Given the description of an element on the screen output the (x, y) to click on. 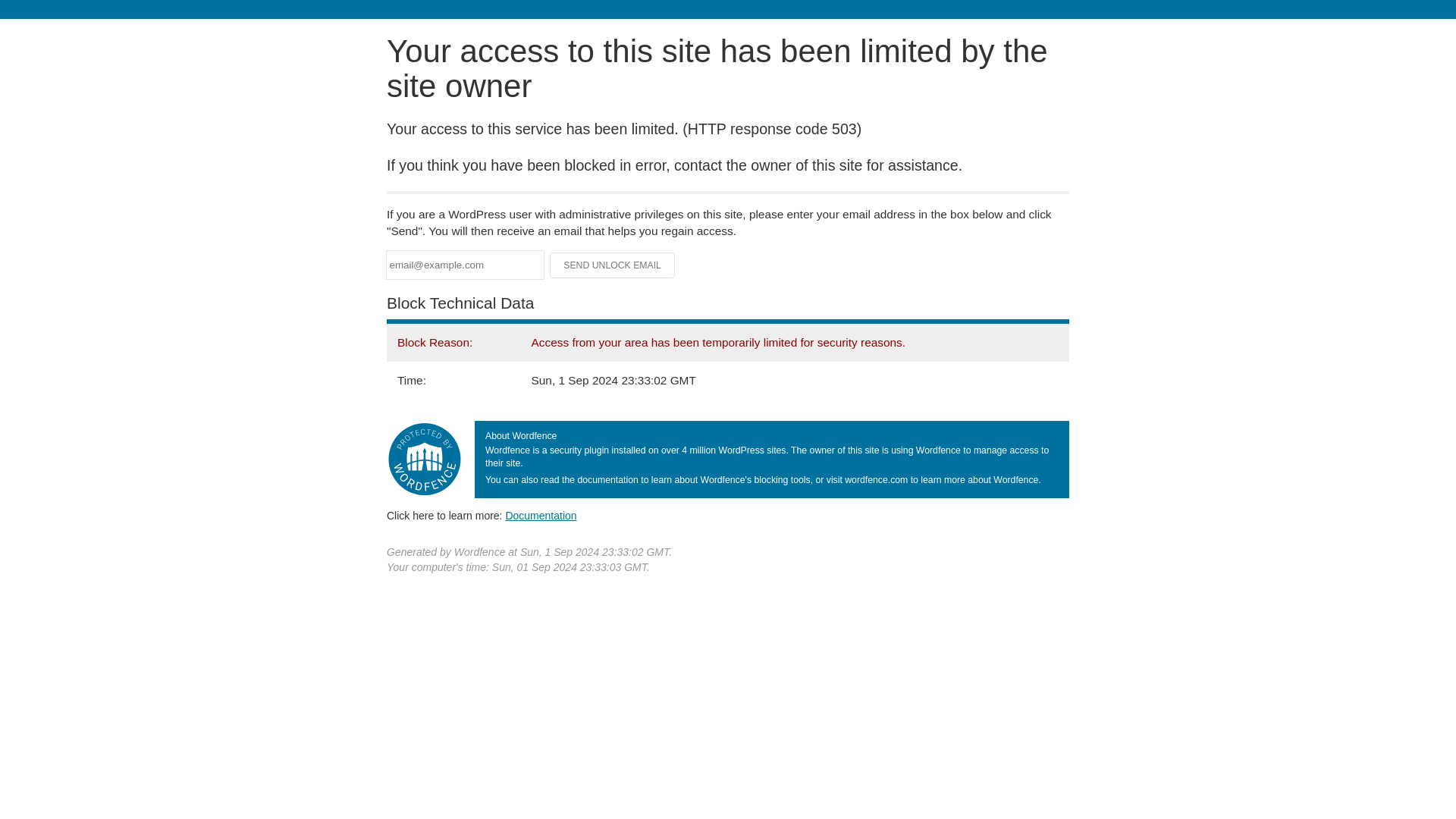
Send Unlock Email (612, 265)
Send Unlock Email (612, 265)
Documentation (540, 515)
